Given the description of an element on the screen output the (x, y) to click on. 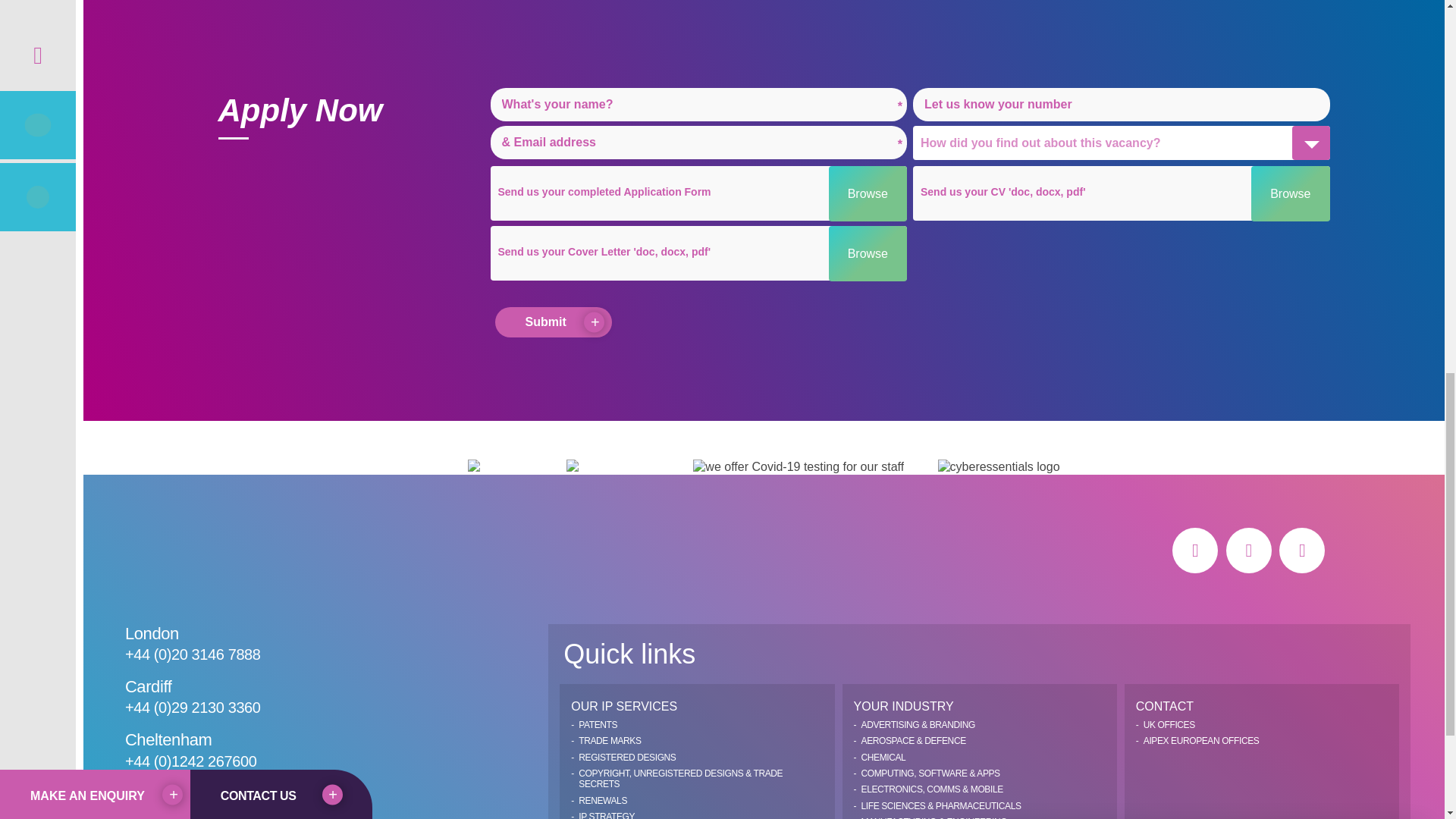
Wynne Jones IP (212, 550)
Submit (553, 322)
